Given the description of an element on the screen output the (x, y) to click on. 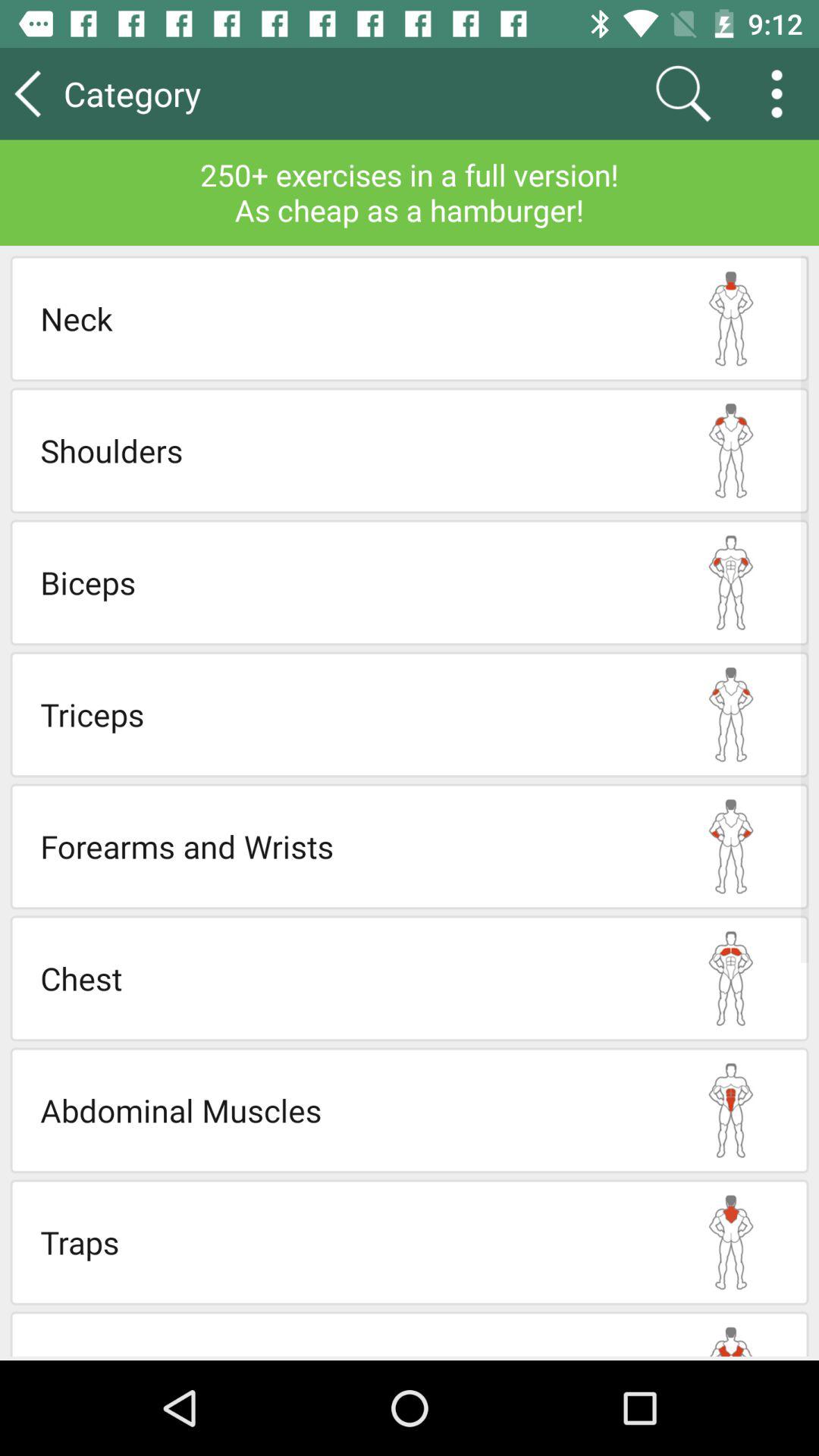
flip until category app (175, 93)
